Given the description of an element on the screen output the (x, y) to click on. 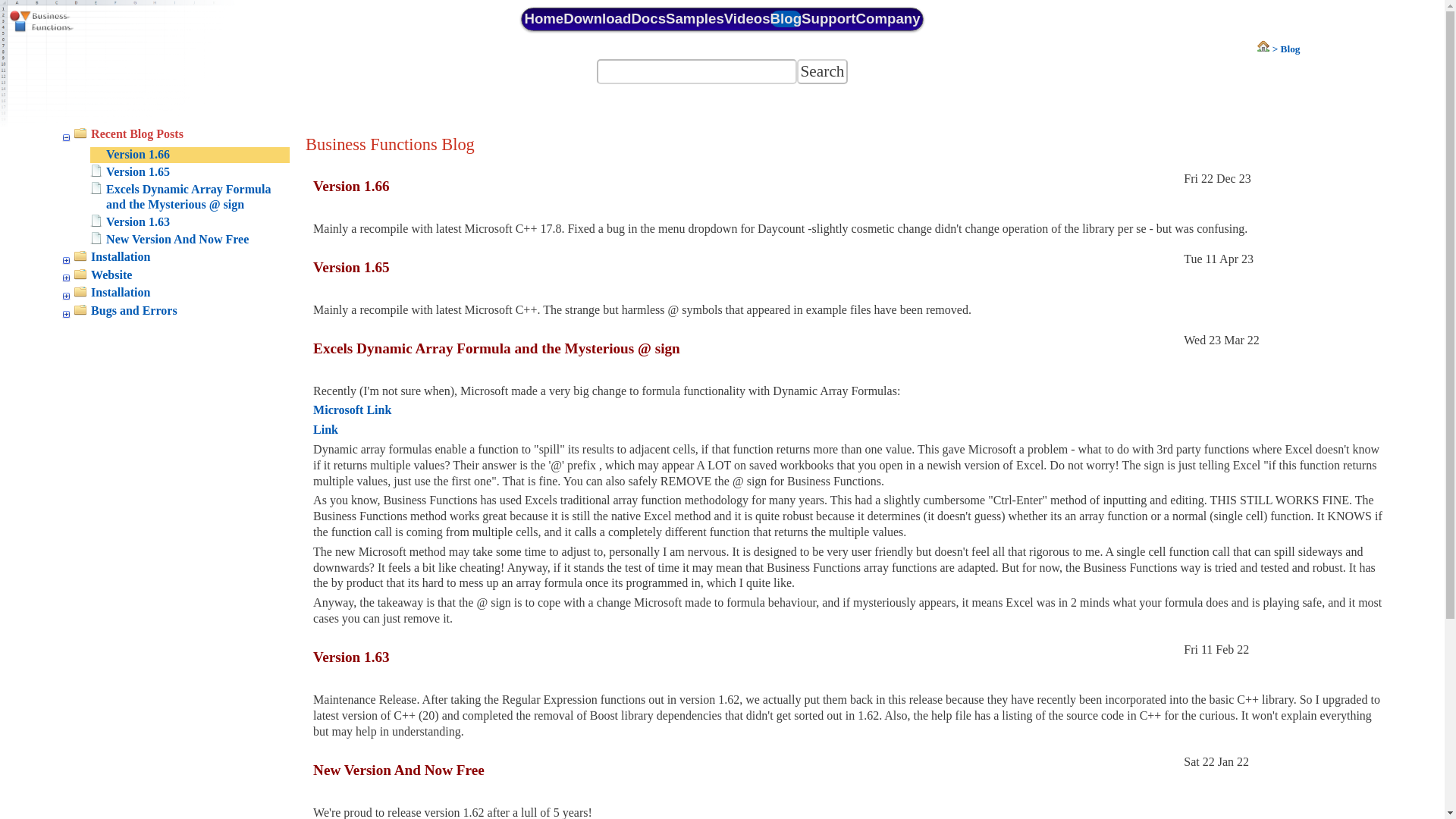
Go To Home Page (1268, 48)
Installation (175, 257)
Support (829, 18)
Version 1.65 (189, 172)
Docs (647, 18)
Recent Blog Posts (175, 134)
Company (888, 18)
New Version And Now Free (189, 239)
Videos (746, 18)
Go to Home Page (75, 22)
